Given the description of an element on the screen output the (x, y) to click on. 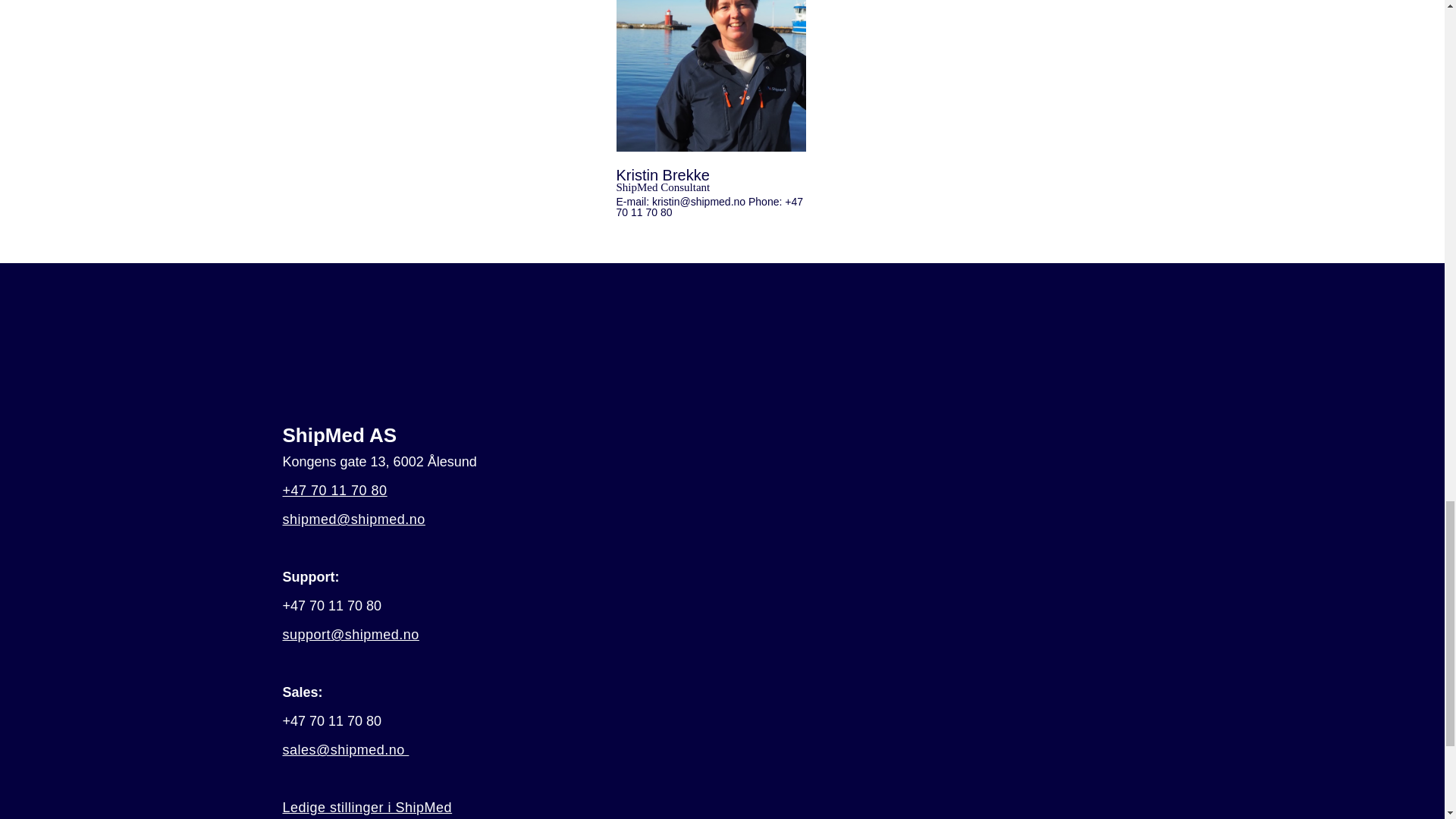
Ledige stillinger i Ship Med (366, 807)
Ledige stillinger i ShipMed (366, 807)
